Given the description of an element on the screen output the (x, y) to click on. 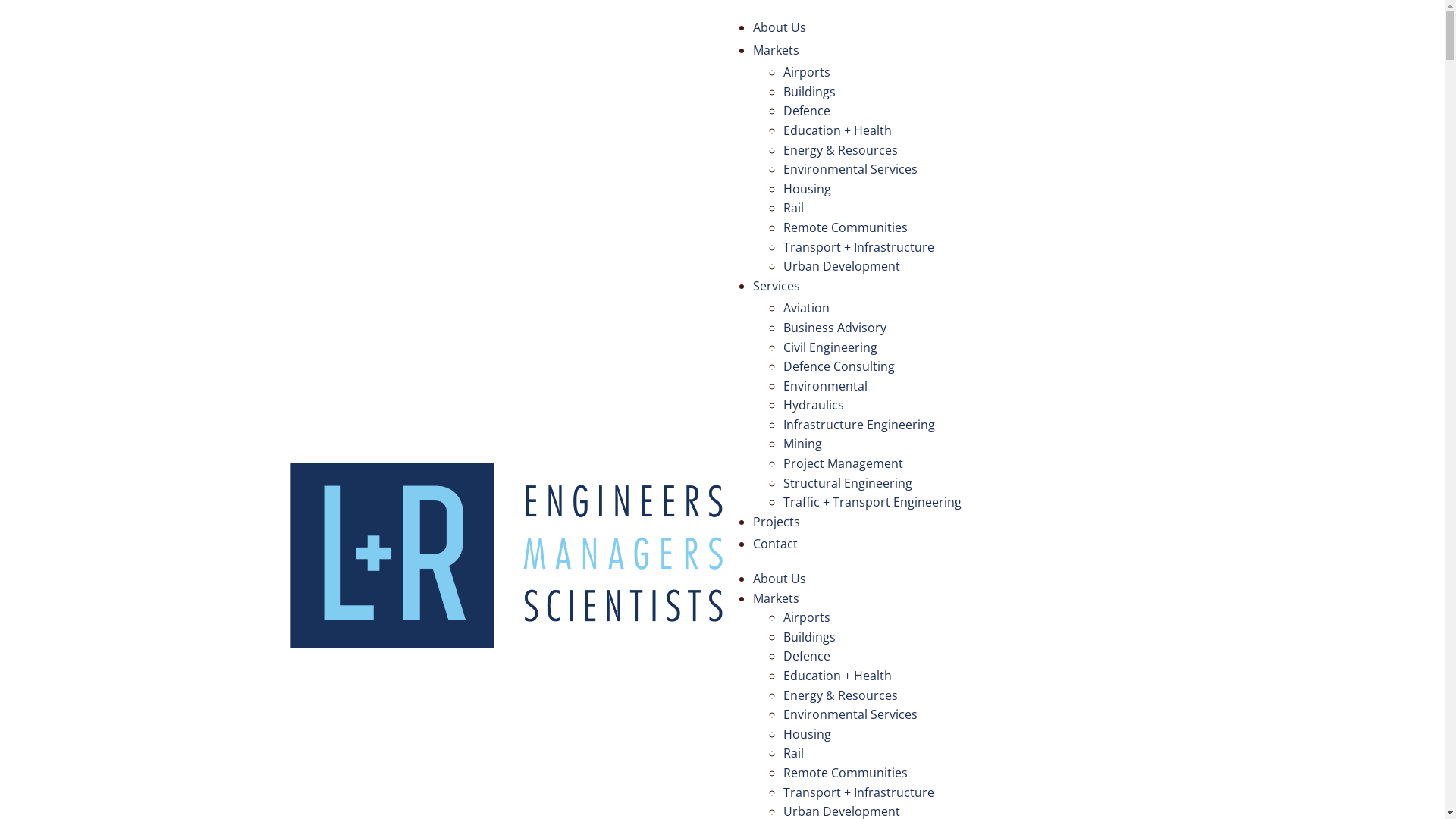
Remote Communities Element type: text (844, 772)
Housing Element type: text (806, 188)
Hydraulics Element type: text (812, 404)
Education + Health Element type: text (836, 130)
Defence Consulting Element type: text (838, 365)
Services Element type: text (953, 288)
Civil Engineering Element type: text (829, 346)
Education + Health Element type: text (836, 675)
Housing Element type: text (806, 733)
Markets Element type: text (775, 597)
Aviation Element type: text (805, 307)
Infrastructure Engineering Element type: text (858, 424)
Transport + Infrastructure Element type: text (857, 246)
About Us Element type: text (953, 29)
Structural Engineering Element type: text (846, 482)
Business Advisory Element type: text (833, 327)
Contact Element type: text (953, 546)
Transport + Infrastructure Element type: text (857, 792)
Markets Element type: text (953, 52)
Airports Element type: text (805, 71)
Buildings Element type: text (808, 91)
Environmental Services Element type: text (849, 714)
About Us Element type: text (778, 578)
Defence Element type: text (805, 110)
Buildings Element type: text (808, 636)
Urban Development Element type: text (840, 265)
Energy & Resources Element type: text (839, 149)
Mining Element type: text (801, 443)
Energy & Resources Element type: text (839, 695)
Environmental Element type: text (824, 385)
Rail Element type: text (792, 207)
Remote Communities Element type: text (844, 227)
Environmental Services Element type: text (849, 168)
Project Management Element type: text (842, 463)
Defence Element type: text (805, 655)
Traffic + Transport Engineering Element type: text (871, 501)
Airports Element type: text (805, 616)
Rail Element type: text (792, 752)
Projects Element type: text (953, 524)
